Given the description of an element on the screen output the (x, y) to click on. 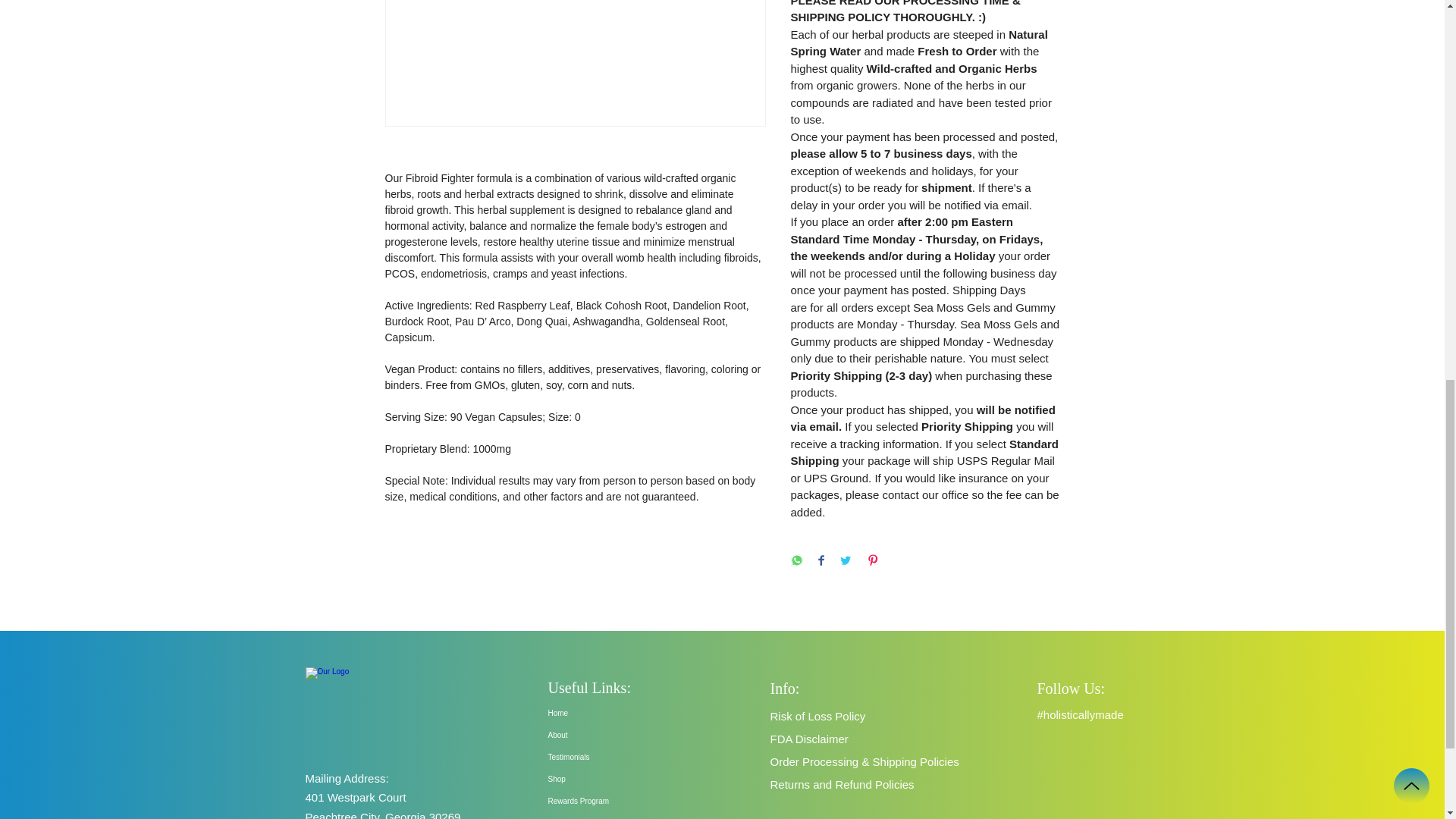
Home (615, 712)
Shop (615, 779)
About (615, 734)
Testimonials (615, 757)
